Given the description of an element on the screen output the (x, y) to click on. 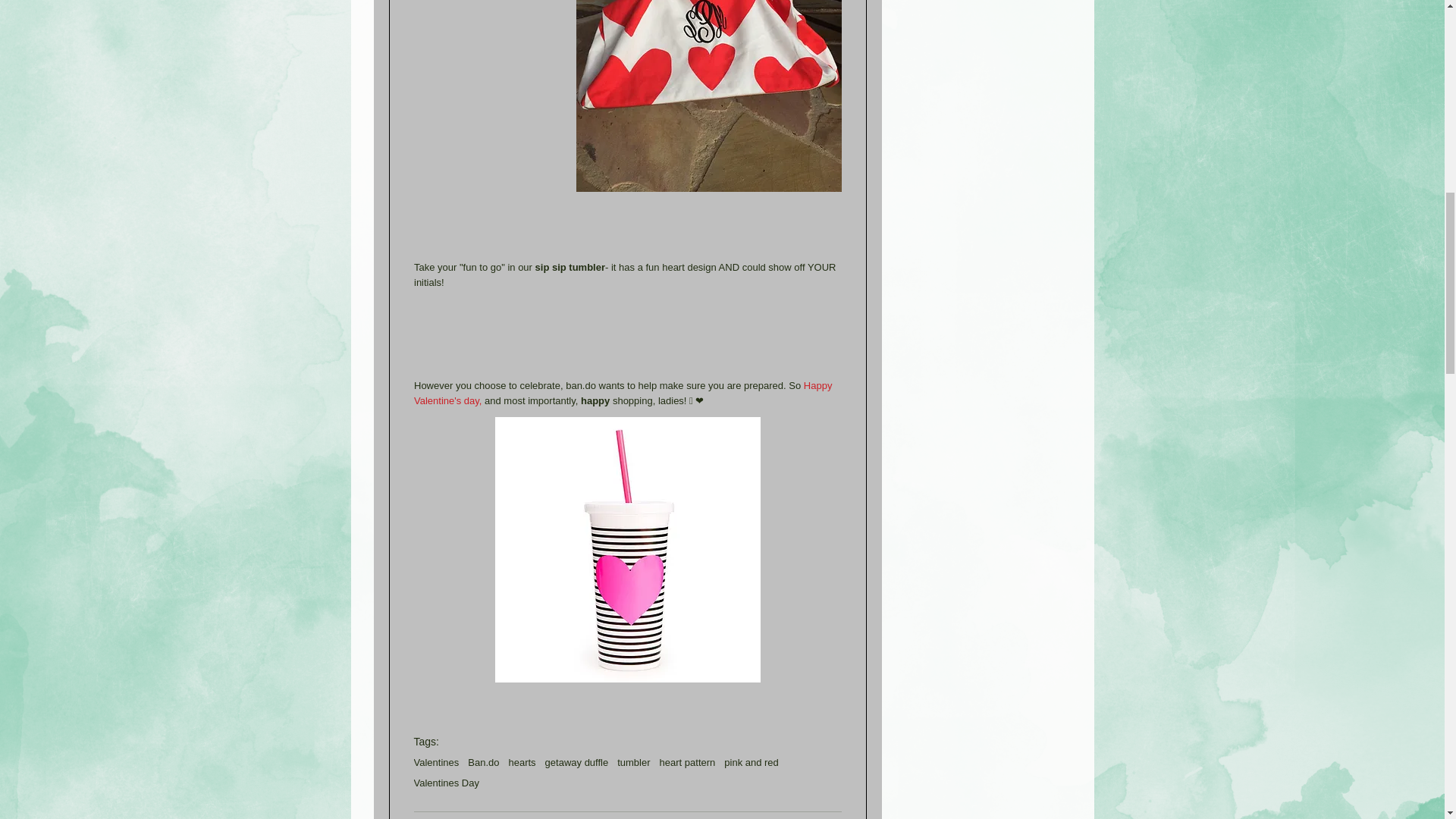
getaway duffle (576, 762)
Valentines Day (446, 782)
hearts (521, 762)
tumbler (633, 762)
pink and red (750, 762)
Ban.do (483, 762)
Valentines (436, 762)
heart pattern (687, 762)
